Given the description of an element on the screen output the (x, y) to click on. 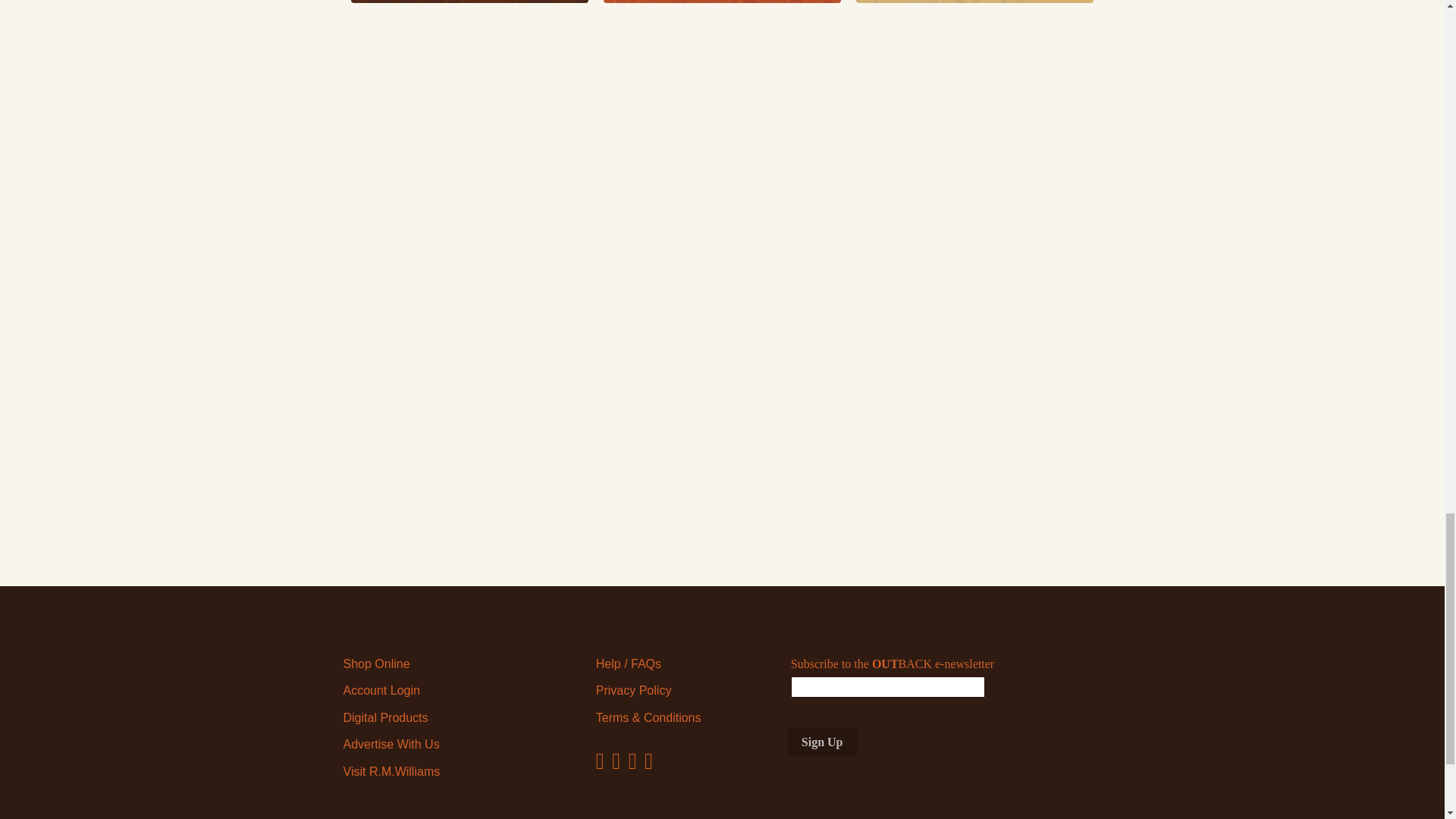
Subscribe to the OUTBACK e-newsletter (887, 686)
